Given the description of an element on the screen output the (x, y) to click on. 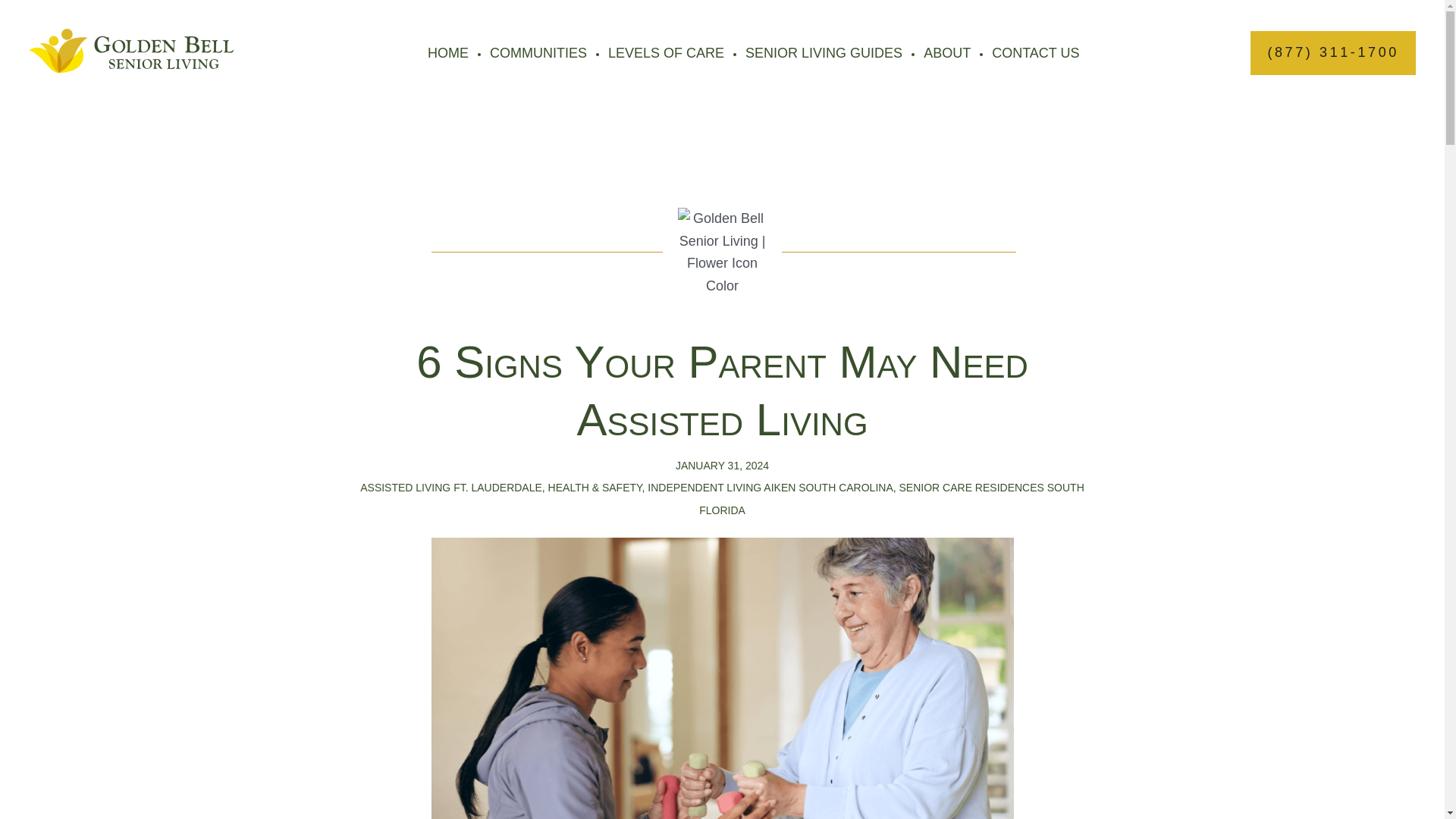
CONTACT US (1034, 53)
SENIOR LIVING GUIDES (823, 53)
LEVELS OF CARE (665, 53)
JANUARY 31, 2024 (721, 466)
COMMUNITIES (537, 53)
HOME (448, 53)
INDEPENDENT LIVING AIKEN SOUTH CAROLINA (769, 487)
ABOUT (947, 53)
SENIOR CARE RESIDENCES SOUTH FLORIDA (891, 498)
ASSISTED LIVING FT. LAUDERDALE (450, 487)
